Given the description of an element on the screen output the (x, y) to click on. 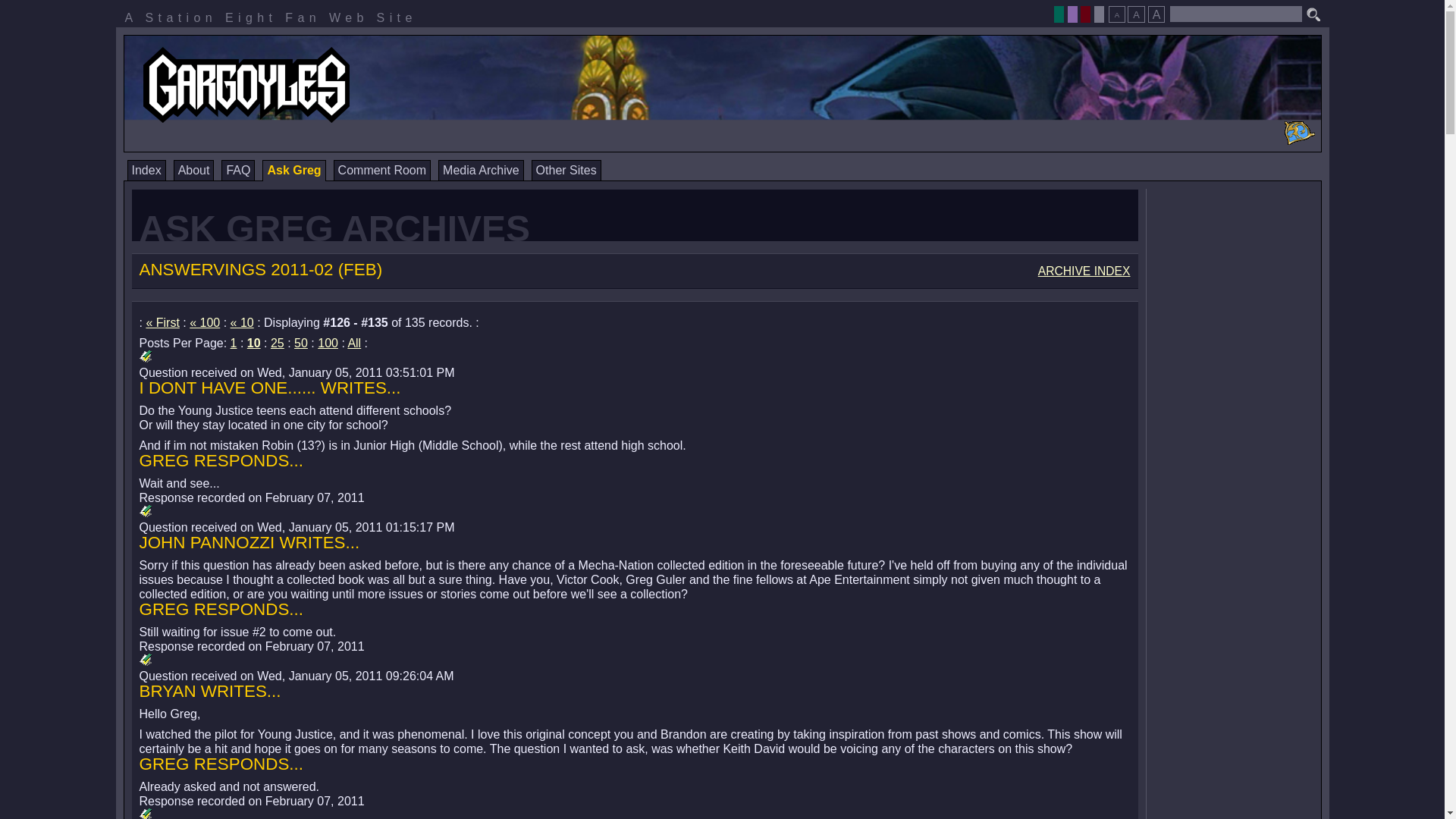
Small Font Size (1116, 13)
Comment Room (381, 169)
Other Sites (566, 169)
Index (146, 169)
A (1135, 13)
ARCHIVE INDEX (1084, 270)
25 (276, 342)
Select the font size the best suits your needs. (1135, 9)
Ask Greg (293, 169)
About (193, 169)
